Given the description of an element on the screen output the (x, y) to click on. 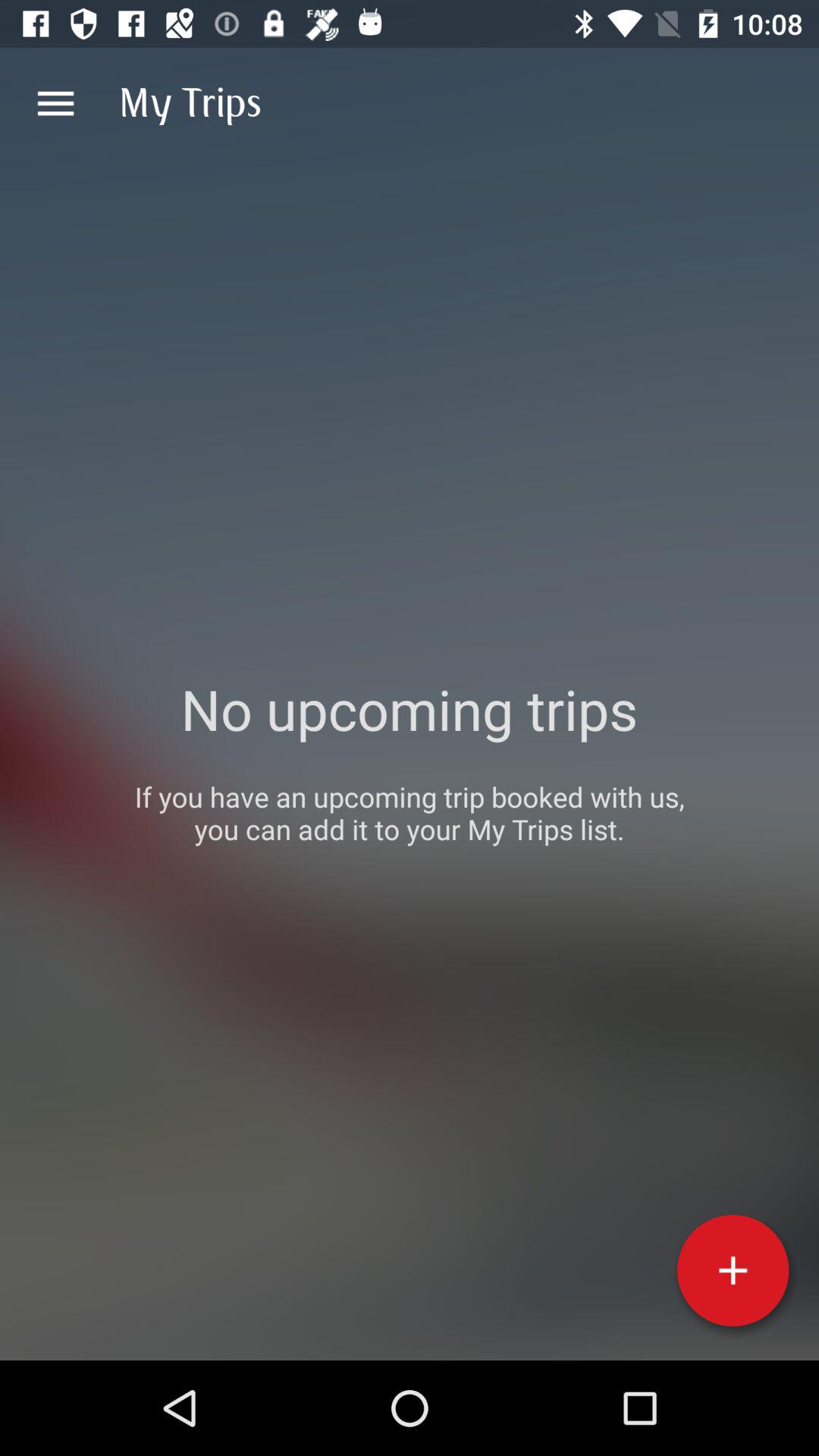
main menu (55, 103)
